Given the description of an element on the screen output the (x, y) to click on. 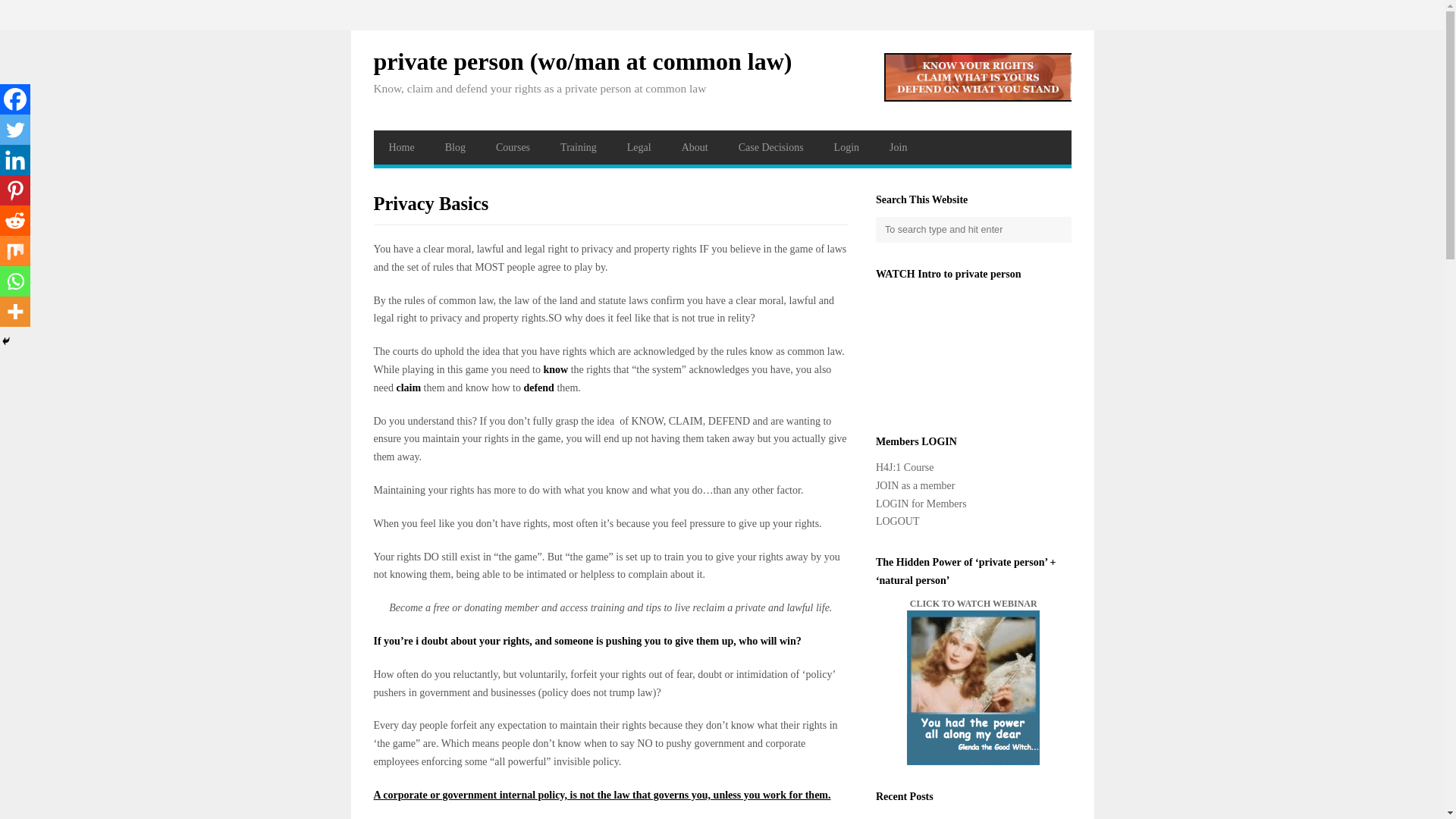
Legal (638, 147)
Pinterest (15, 190)
Training (577, 147)
Linkedin (15, 159)
Courses (512, 147)
Blog (454, 147)
Twitter (15, 129)
Facebook (15, 99)
Home (400, 147)
